Given the description of an element on the screen output the (x, y) to click on. 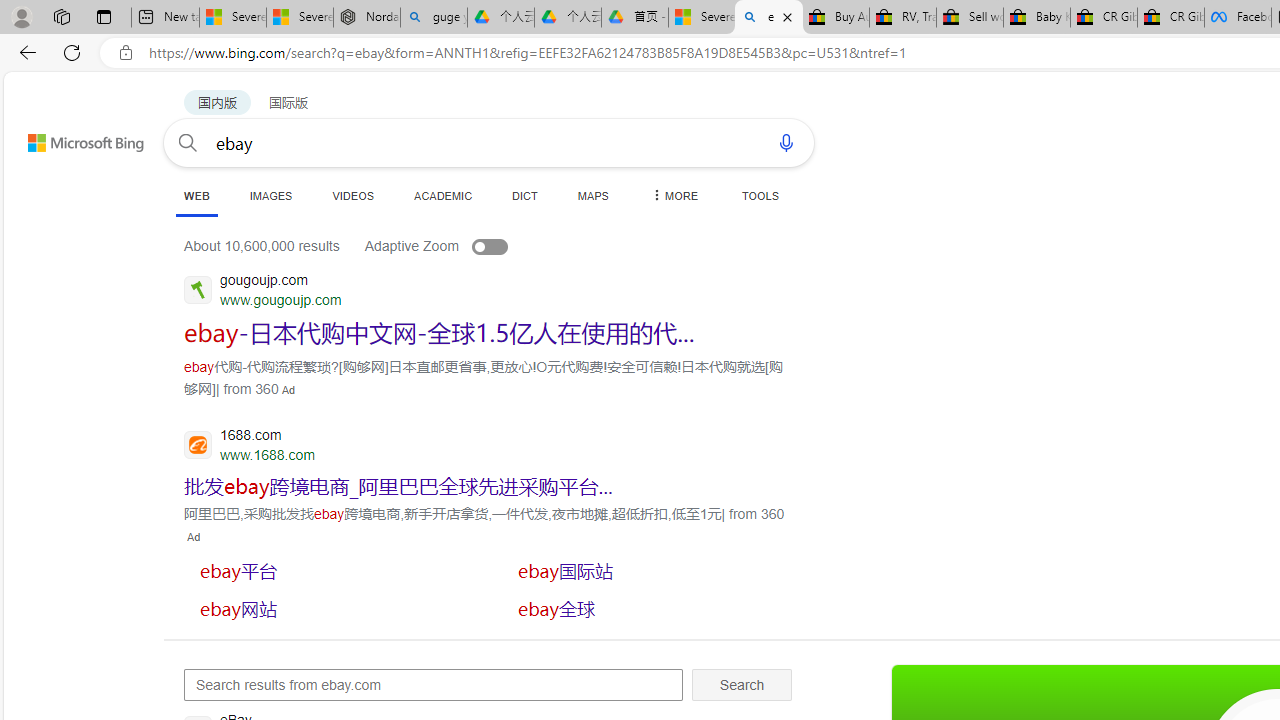
ACADEMIC (443, 195)
SERP,5714 (333, 608)
Back to Bing search (73, 138)
DICT (525, 195)
Search button (187, 142)
SERP,5715 (651, 608)
WEB (196, 196)
